Given the description of an element on the screen output the (x, y) to click on. 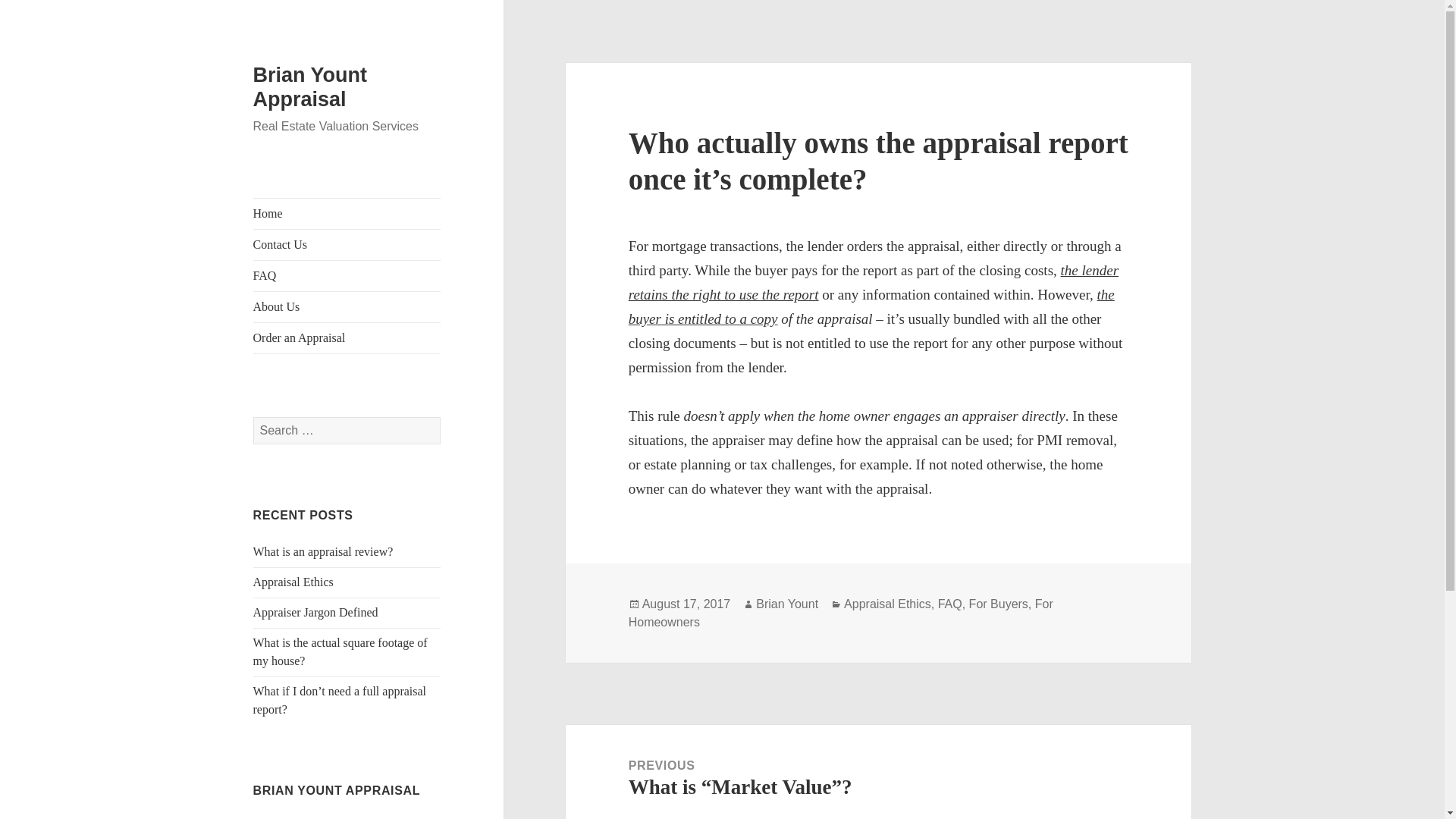
FAQ (949, 603)
Home (347, 214)
Appraisal Ethics (293, 581)
Brian Yount (786, 603)
Appraisal Ethics (887, 603)
What is an appraisal review? (323, 551)
Appraiser Jargon Defined (315, 612)
